Given the description of an element on the screen output the (x, y) to click on. 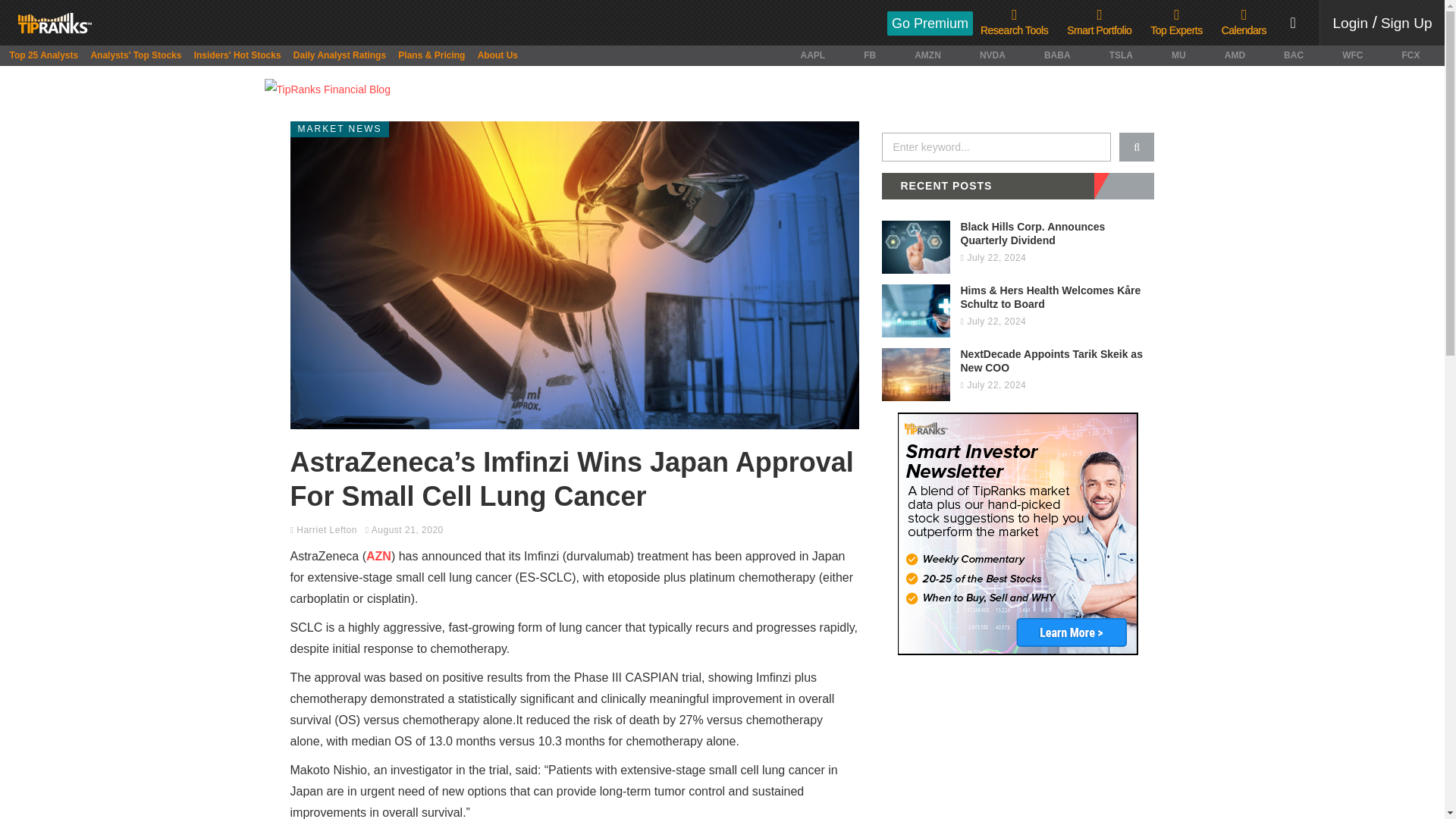
Research Tools (1013, 22)
Smart Portfolio (1099, 22)
Go Premium (929, 22)
Calendars (1243, 22)
Top Experts (1176, 22)
Posts by Harriet Lefton (326, 529)
